Given the description of an element on the screen output the (x, y) to click on. 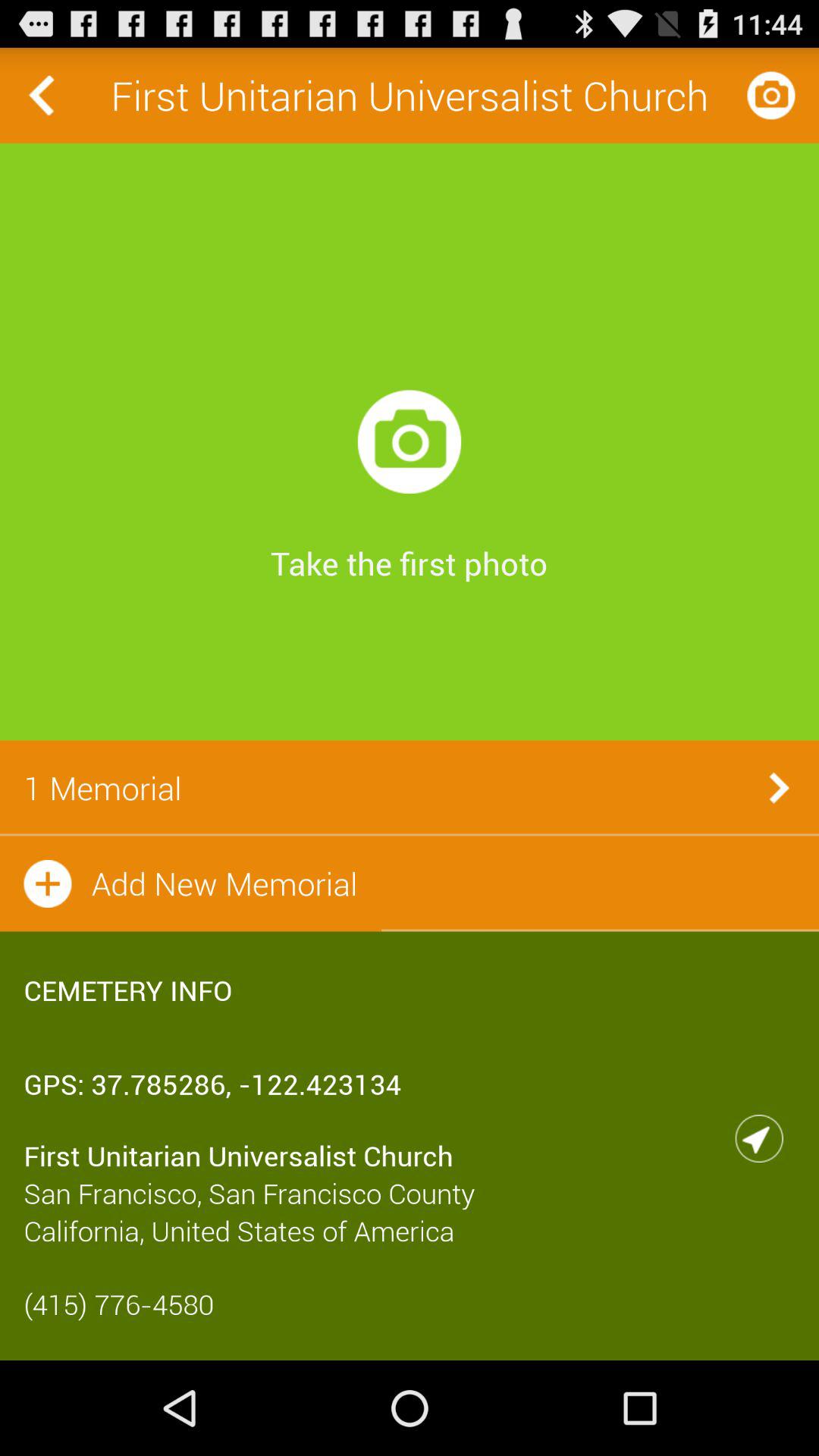
choose icon below the first unitarian universalist icon (409, 441)
